Given the description of an element on the screen output the (x, y) to click on. 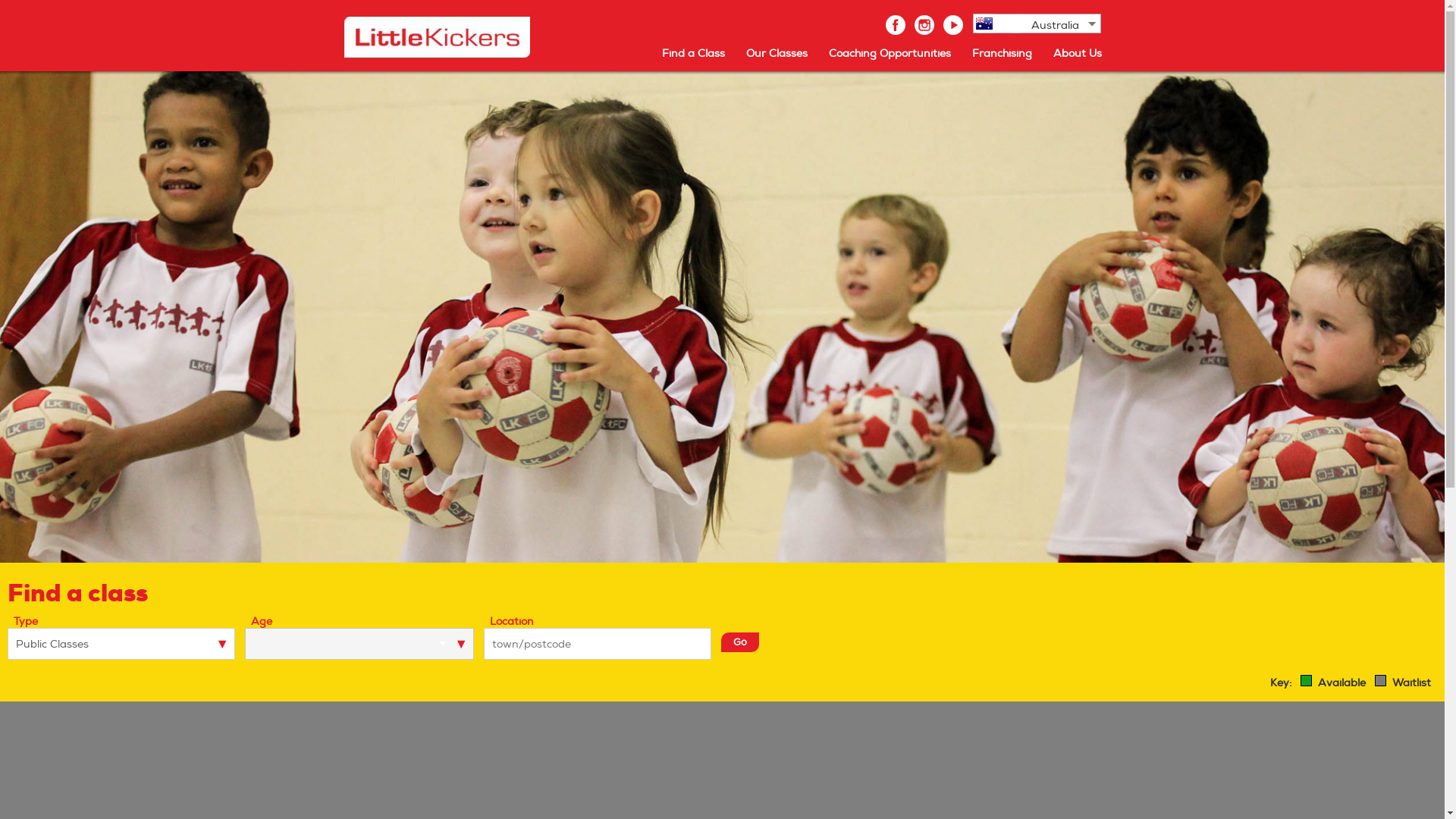
Our Classes Element type: text (776, 49)
Find a Class Element type: text (692, 49)
Little Kickers Element type: hover (435, 36)
Coaching Opportunities Element type: text (889, 49)
Franchising Element type: text (1002, 49)
Australia Element type: text (1047, 24)
About Us Element type: text (1076, 49)
Go Element type: text (740, 642)
